Given the description of an element on the screen output the (x, y) to click on. 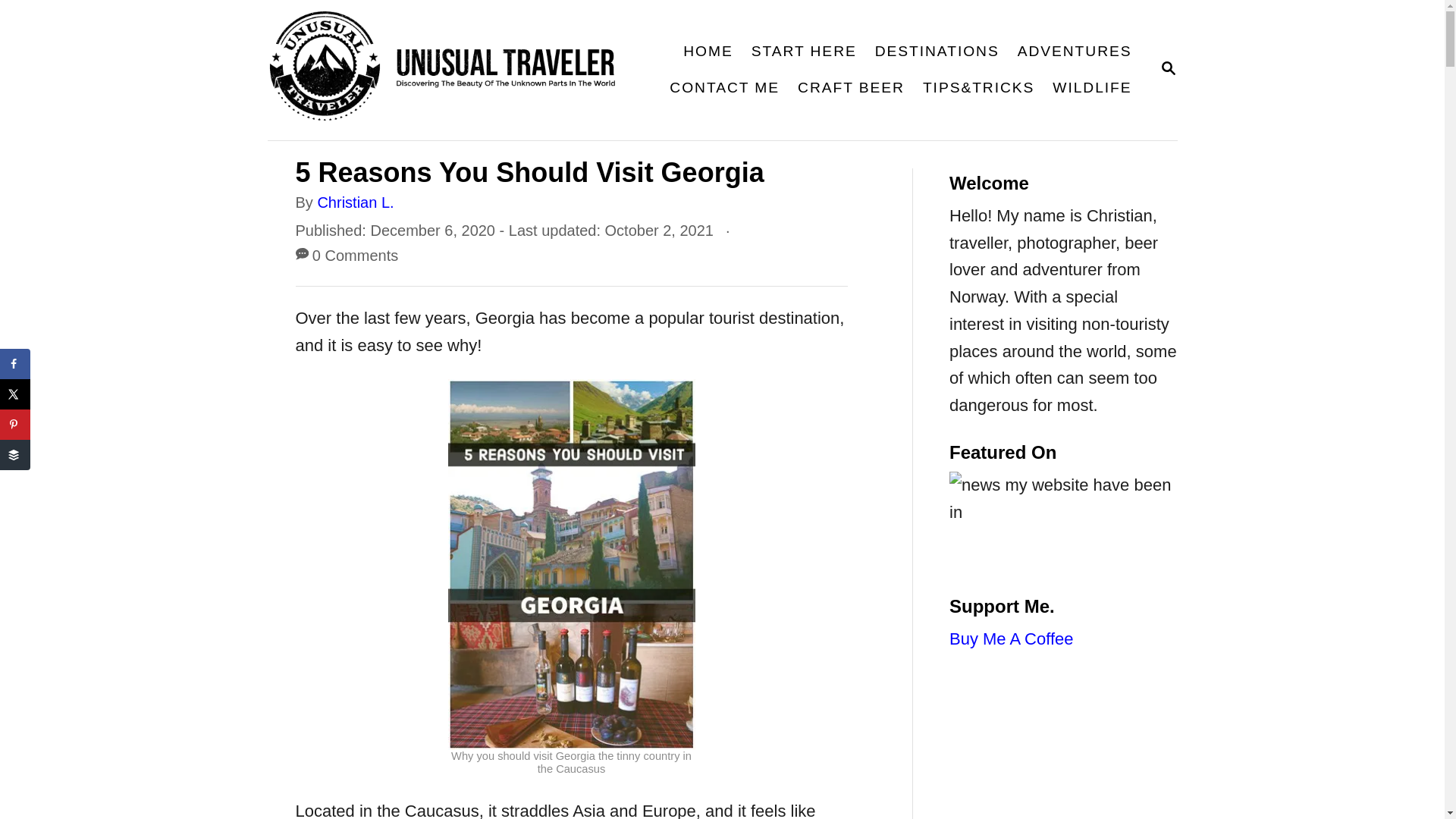
Share on Facebook (15, 363)
Share on X (1167, 69)
Share on Buffer (15, 394)
DESTINATIONS (15, 454)
MAGNIFYING GLASS (937, 51)
HOME (1167, 67)
Save to Pinterest (707, 51)
Unusual Traveler (15, 424)
START HERE (451, 70)
